Given the description of an element on the screen output the (x, y) to click on. 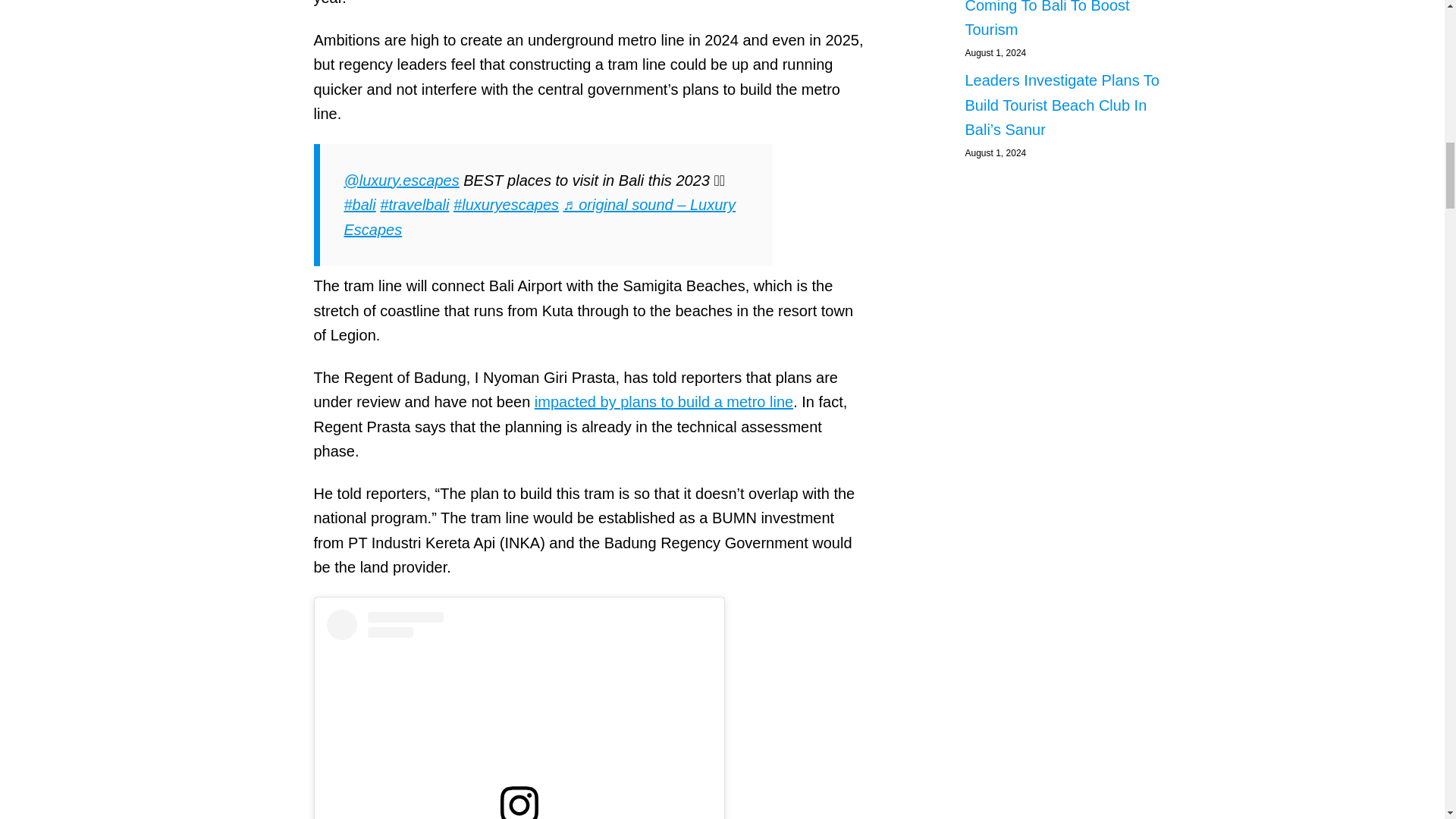
impacted by plans to build a metro line (663, 401)
View this post on Instagram (518, 714)
bali (359, 204)
